Given the description of an element on the screen output the (x, y) to click on. 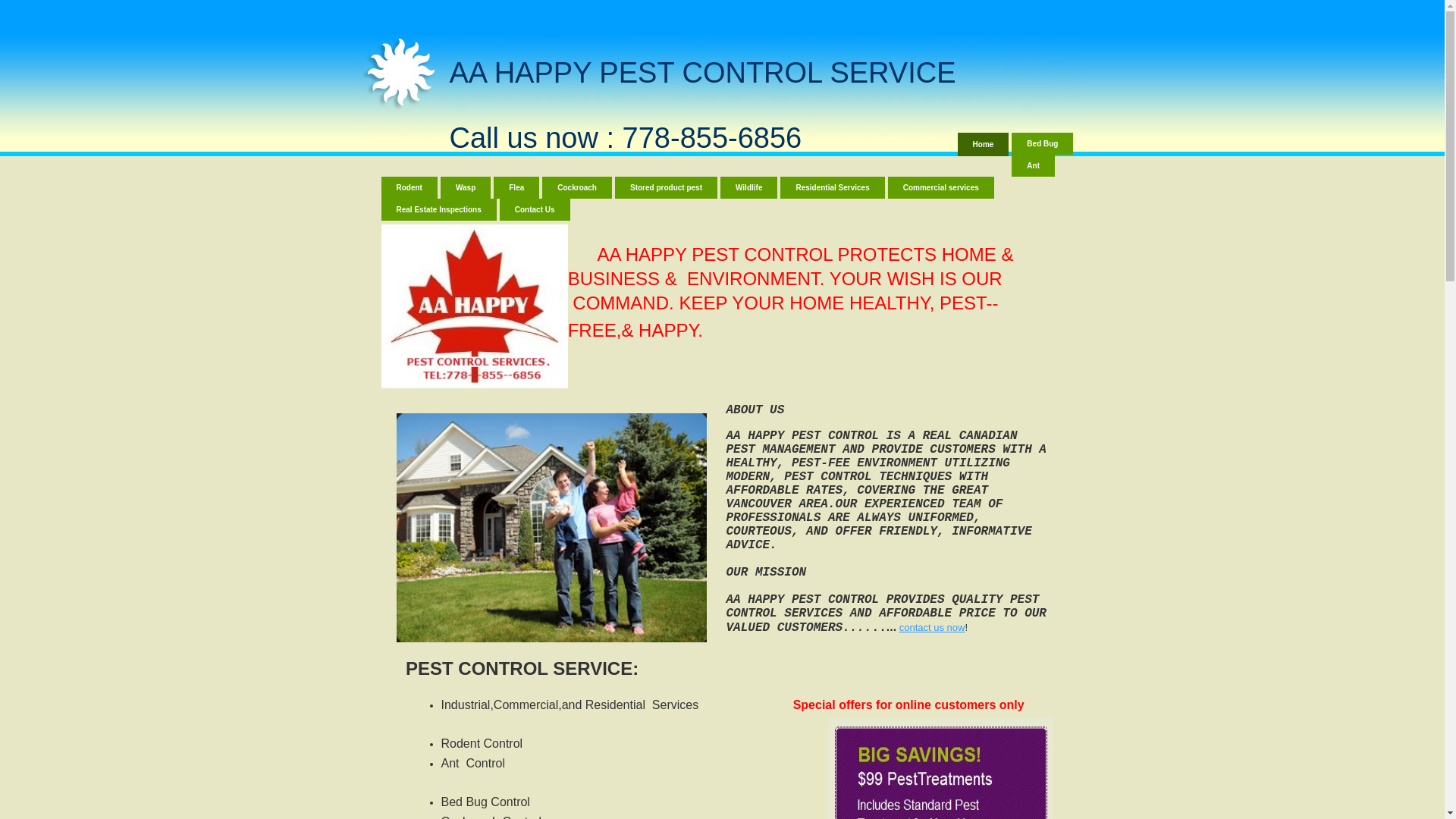
Rodent Element type: text (408, 187)
AA HAPPY PEST CONTROL SERVICE

Call us now : 778-855-6856 Element type: text (701, 104)
Real Estate Inspections Element type: text (437, 209)
Commercial services Element type: text (941, 187)
Stored product pest Element type: text (666, 187)
Flea Element type: text (516, 187)
Wildlife Element type: text (748, 187)
Bed Bug Element type: text (1042, 143)
Home Element type: text (983, 144)
Residential Services Element type: text (832, 187)
contact us now Element type: text (932, 627)
Contact Us Element type: text (534, 209)
Cockroach Element type: text (576, 187)
Ant Element type: text (1032, 165)
Wasp Element type: text (465, 187)
